Given the description of an element on the screen output the (x, y) to click on. 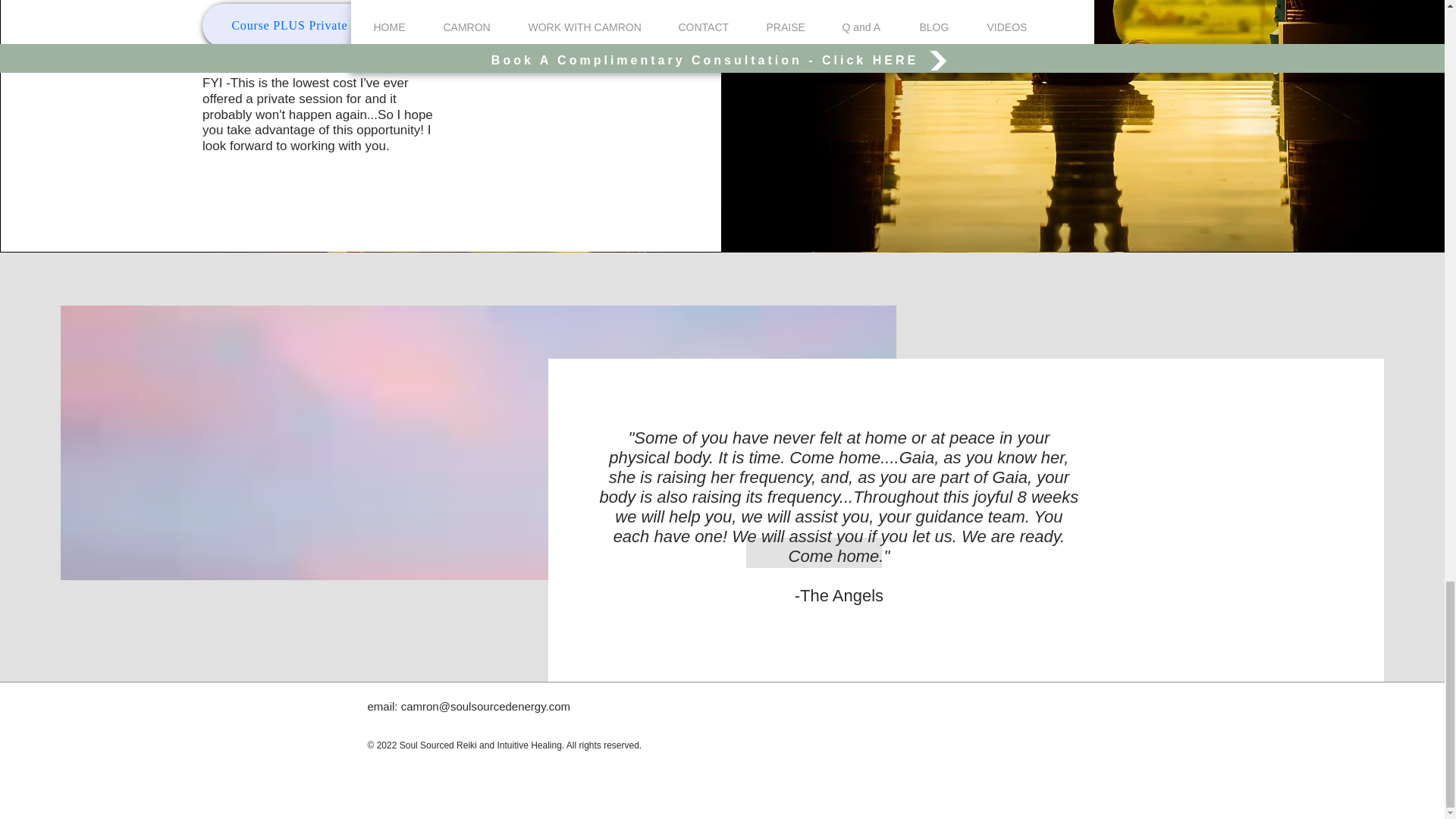
Course PLUS Private Session (312, 25)
